Given the description of an element on the screen output the (x, y) to click on. 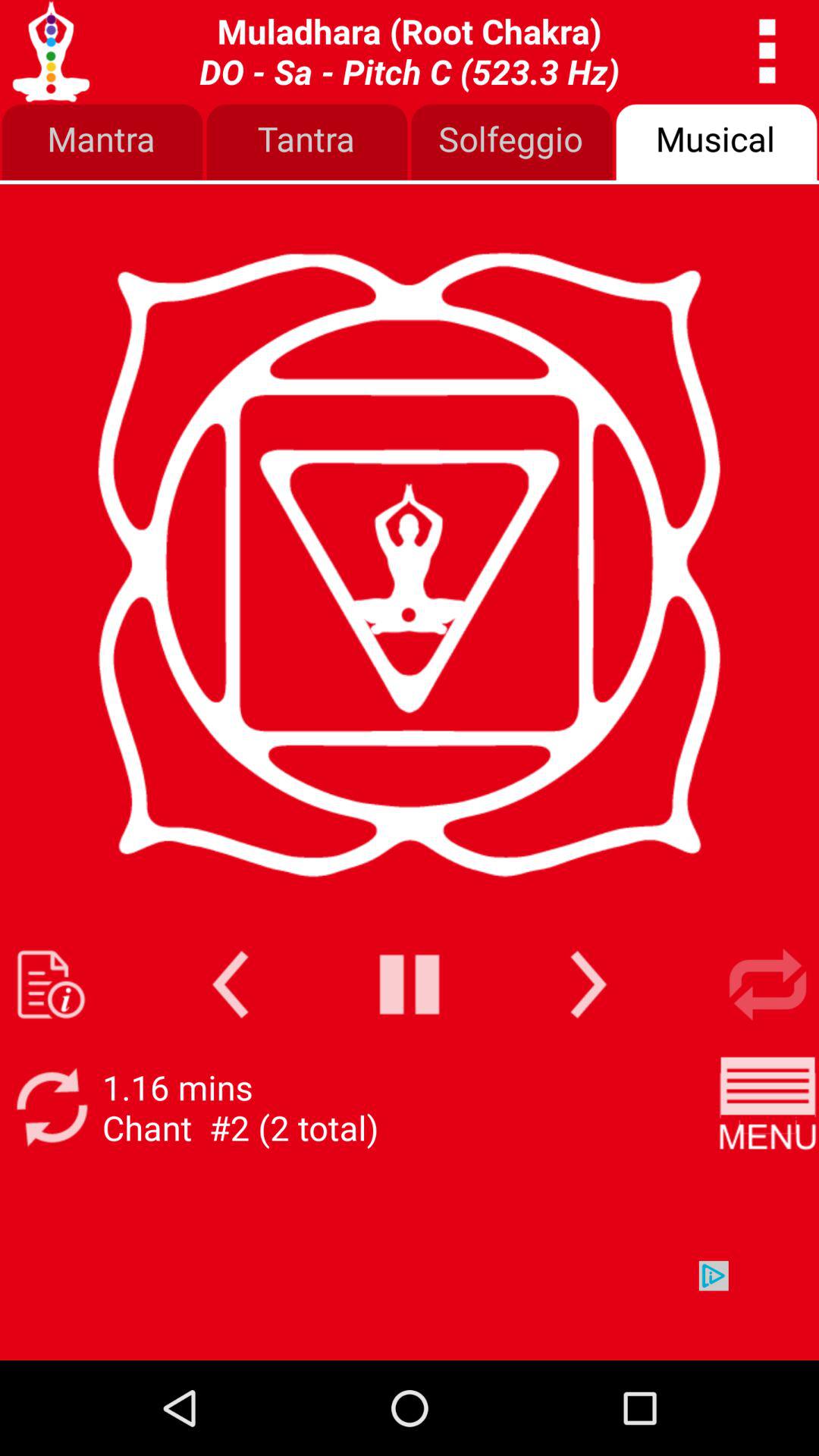
turn off the icon next to the solfeggio item (716, 143)
